Given the description of an element on the screen output the (x, y) to click on. 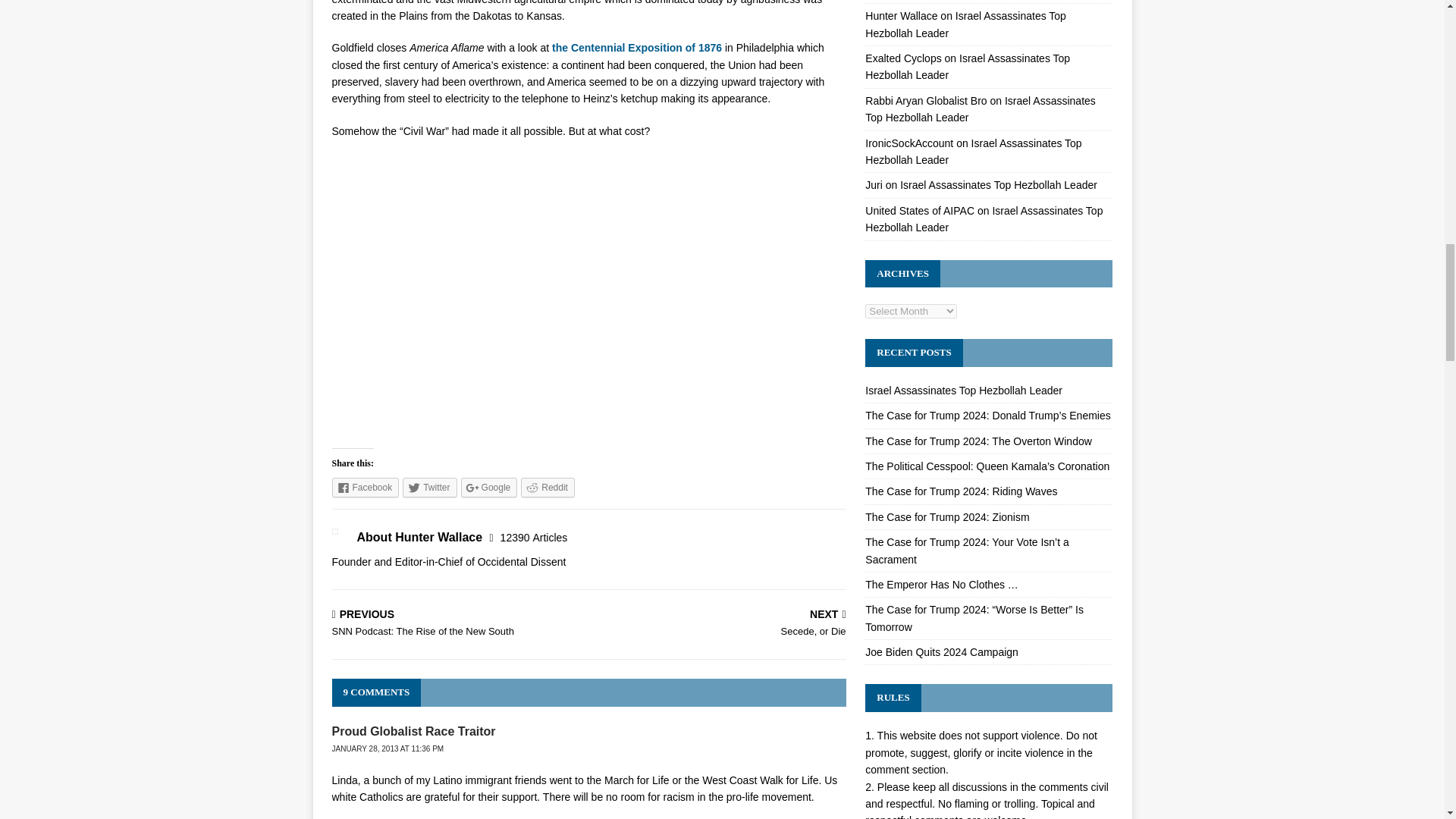
Click to share on Twitter (430, 487)
the Centennial Exposition of 1876 (636, 47)
Reddit (548, 487)
Google (489, 487)
Twitter (430, 487)
Facebook (364, 487)
Click to share on Facebook (364, 487)
More articles written by Hunter Wallace' (533, 537)
Click to share on Reddit (548, 487)
